Given the description of an element on the screen output the (x, y) to click on. 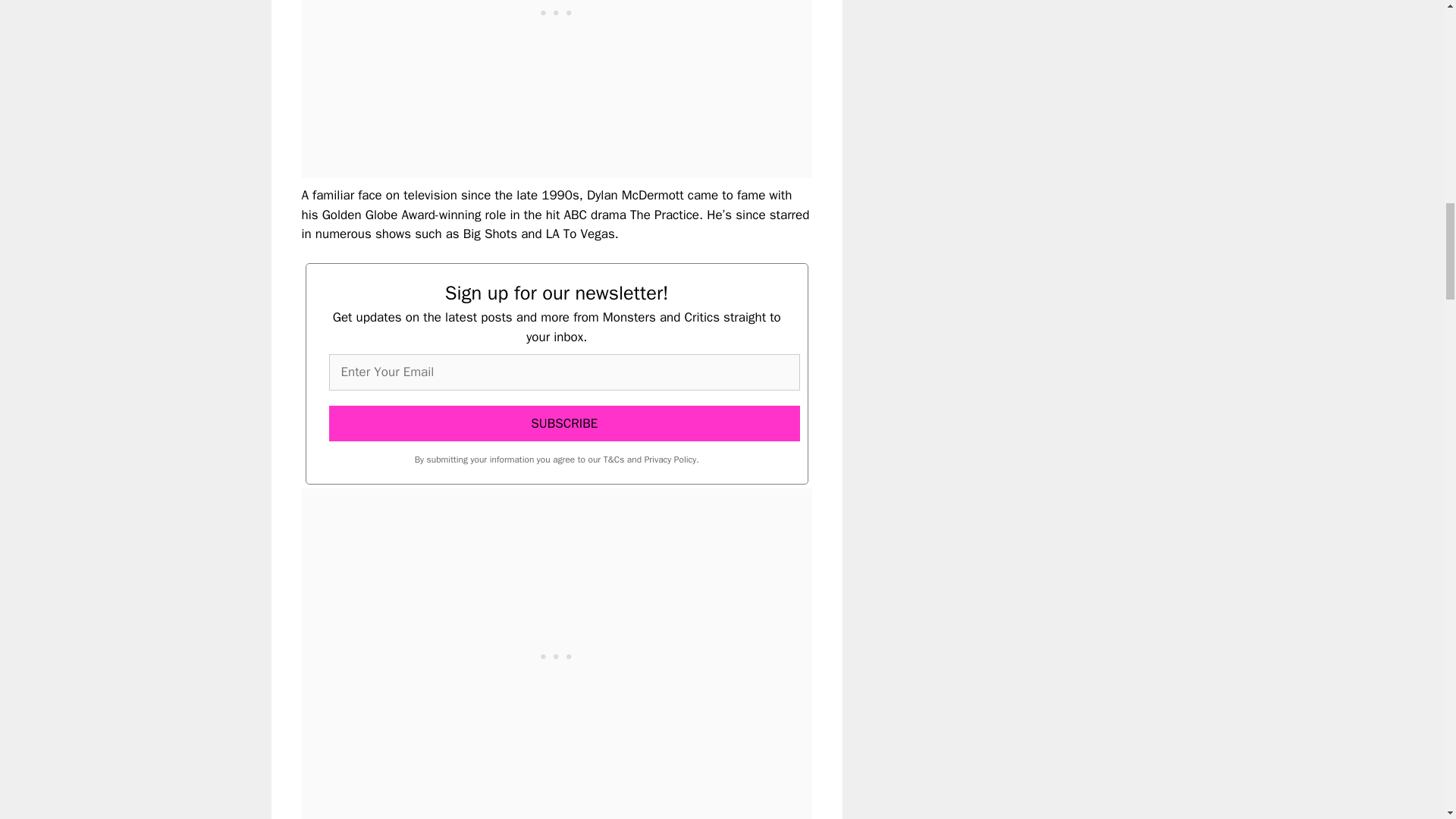
SUBSCRIBE (564, 423)
SUBSCRIBE (564, 423)
